Given the description of an element on the screen output the (x, y) to click on. 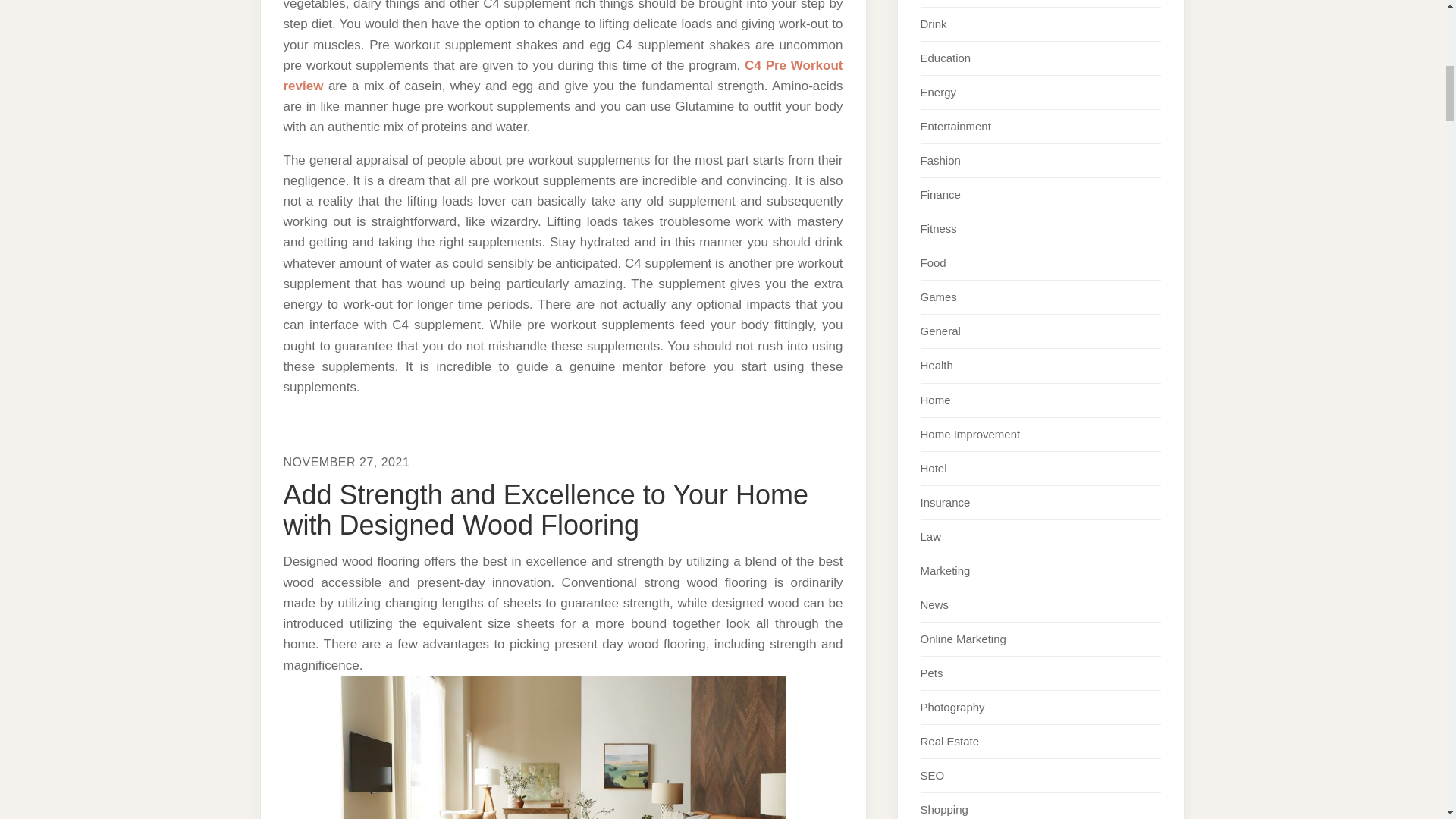
C4 Pre Workout review (563, 75)
NOVEMBER 27, 2021 (346, 461)
